Given the description of an element on the screen output the (x, y) to click on. 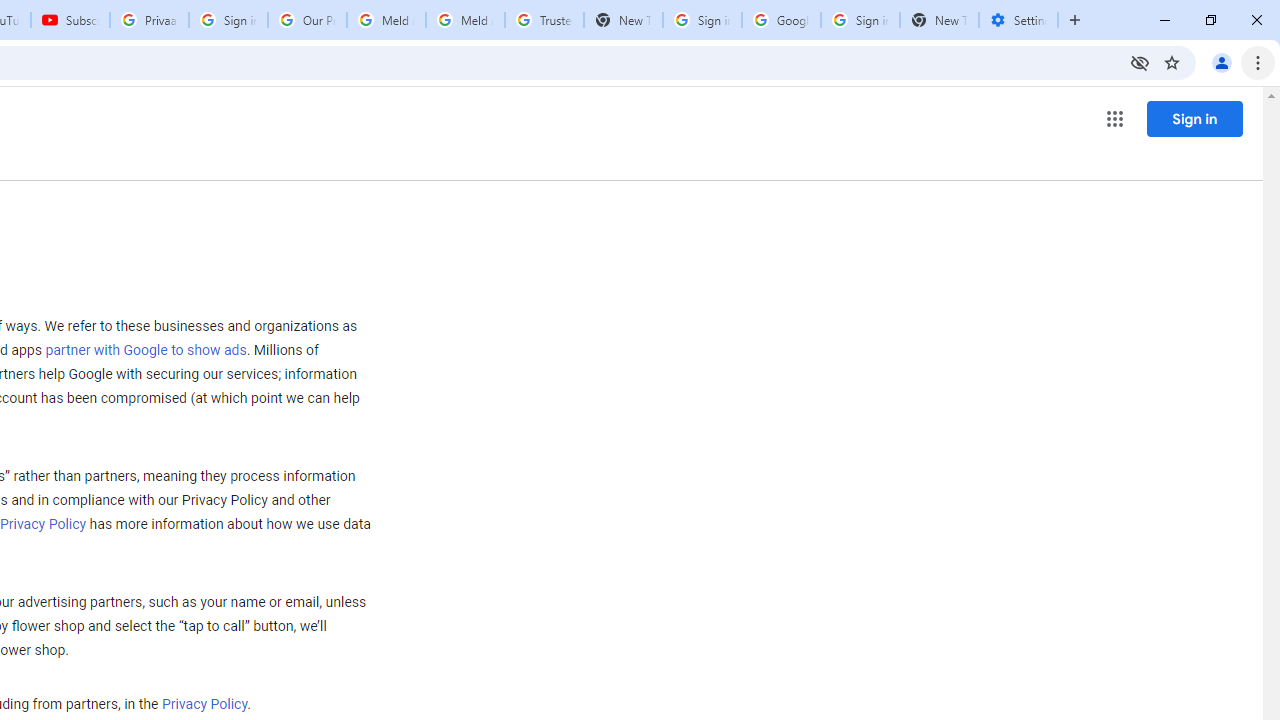
Subscriptions - YouTube (70, 20)
Trusted Information and Content - Google Safety Center (544, 20)
Sign in - Google Accounts (228, 20)
